Given the description of an element on the screen output the (x, y) to click on. 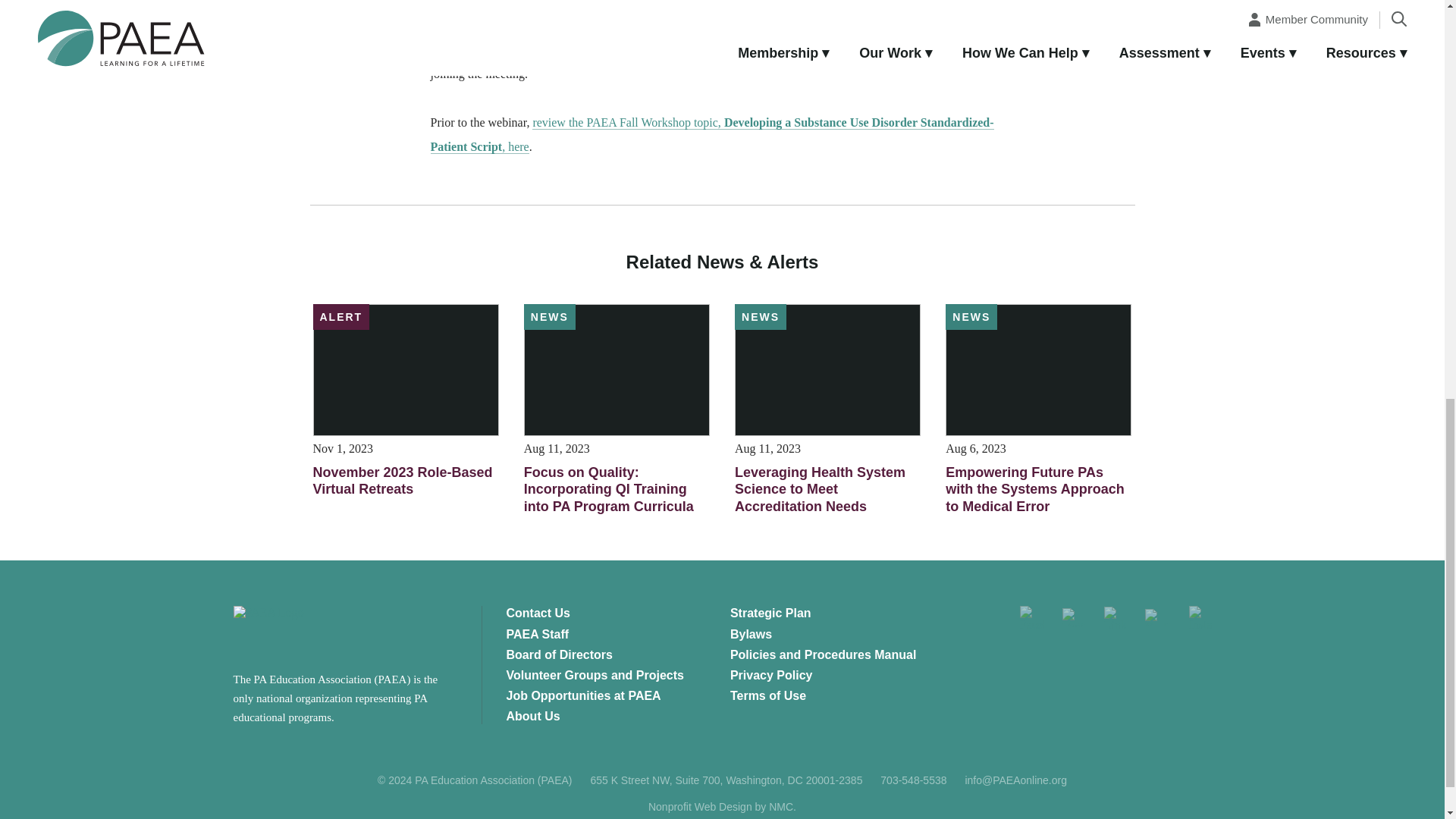
homepage (305, 630)
